Given the description of an element on the screen output the (x, y) to click on. 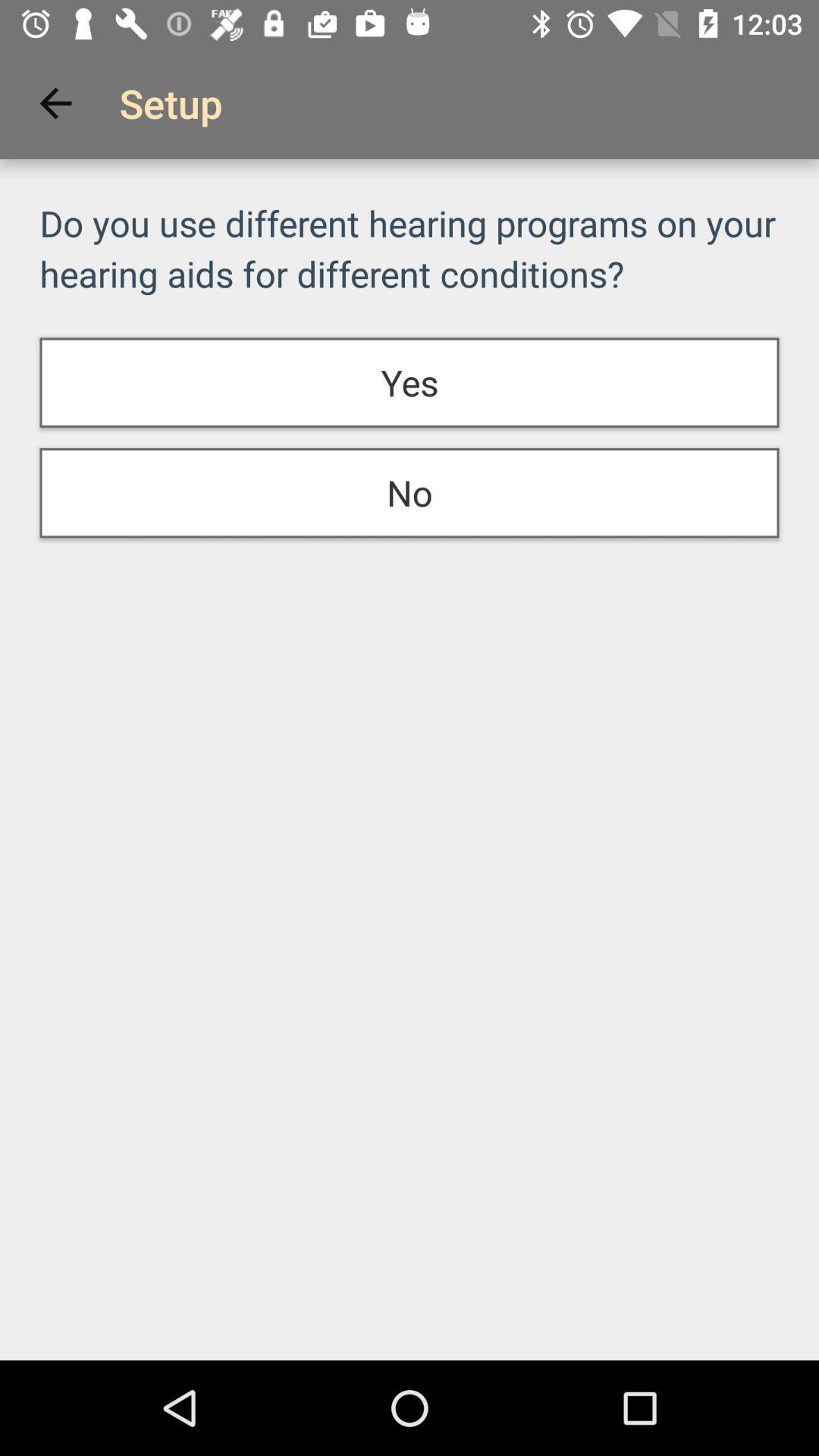
flip until yes icon (409, 382)
